Given the description of an element on the screen output the (x, y) to click on. 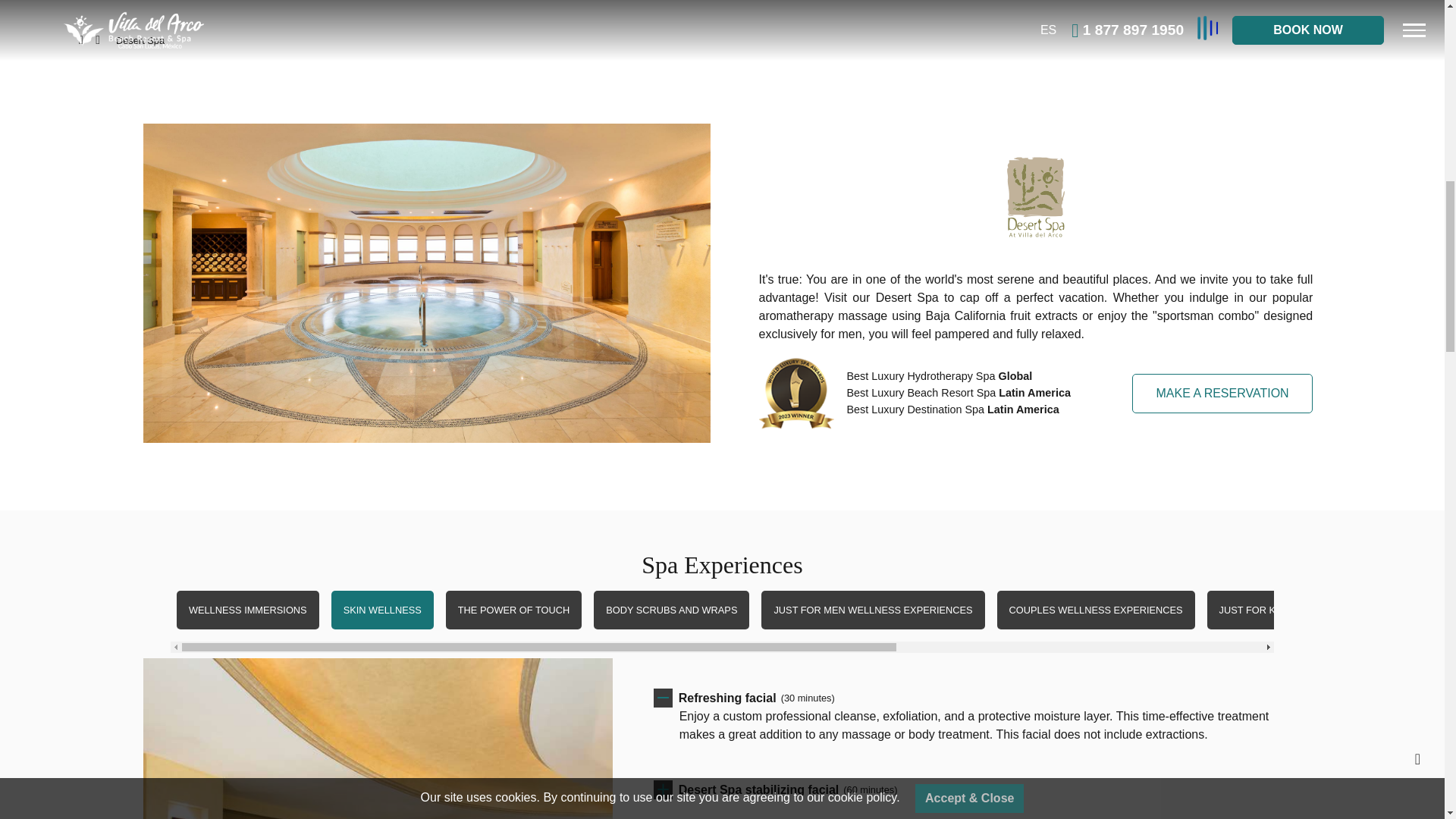
Tvg Desert Spa Logo (1035, 196)
